Given the description of an element on the screen output the (x, y) to click on. 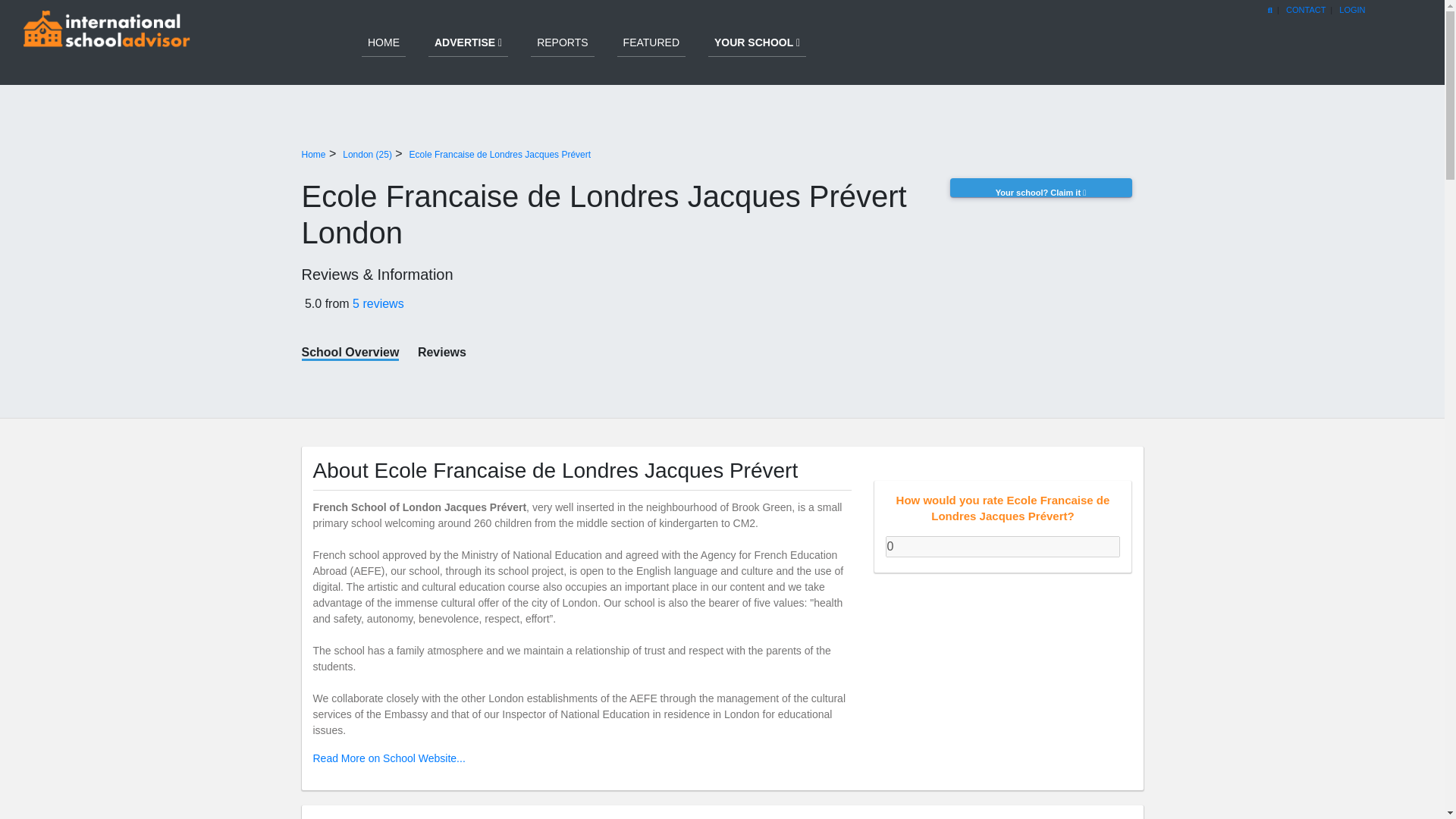
Your school? Claim it (1046, 253)
LOGIN (1353, 9)
Advertise (468, 30)
REPORTS (562, 30)
ADVERTISE (468, 30)
YOUR SCHOOL (756, 30)
Reports (562, 30)
5.0 from 5 reviews (614, 303)
Contact (1304, 9)
International School Reviews and Information (100, 41)
CONTACT (1304, 9)
FEATURED (651, 30)
Home (313, 154)
0 (1003, 546)
